Given the description of an element on the screen output the (x, y) to click on. 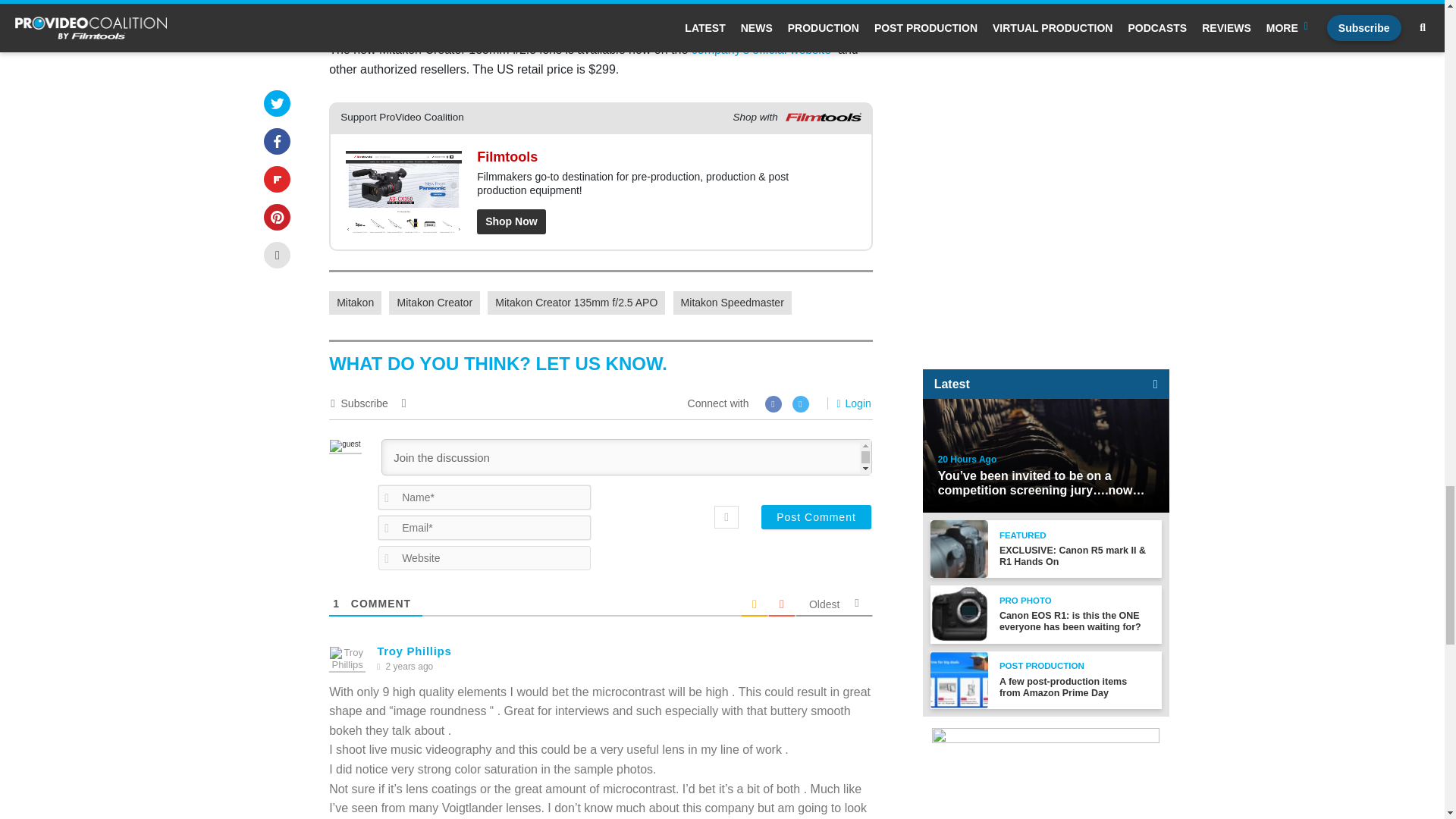
Post Comment (815, 517)
